Given the description of an element on the screen output the (x, y) to click on. 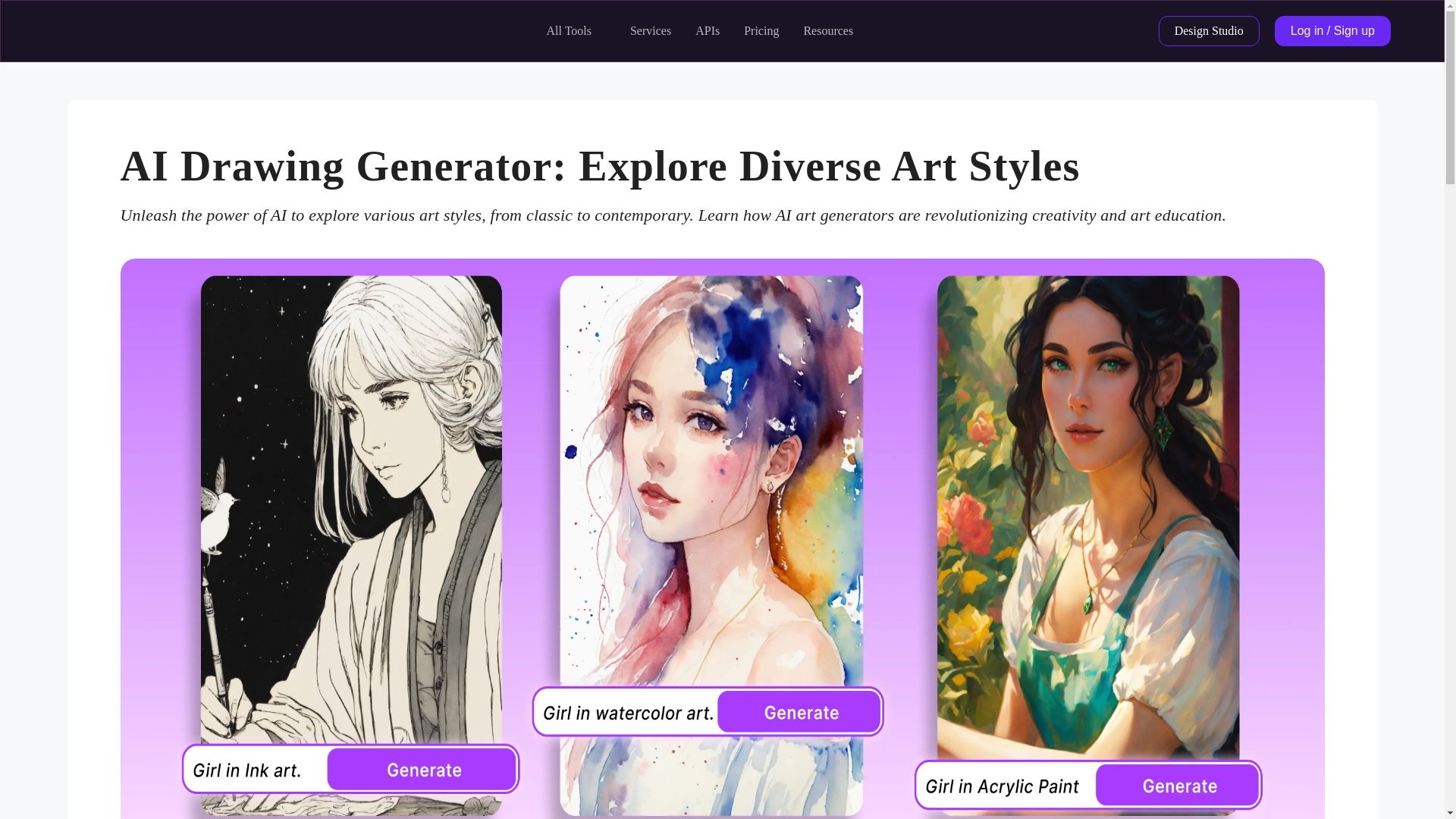
Resources (828, 30)
Services (650, 30)
Design Studio (1208, 30)
All Tools (568, 30)
APIs (707, 30)
Phot AI Logo (92, 30)
Pricing (761, 30)
